Given the description of an element on the screen output the (x, y) to click on. 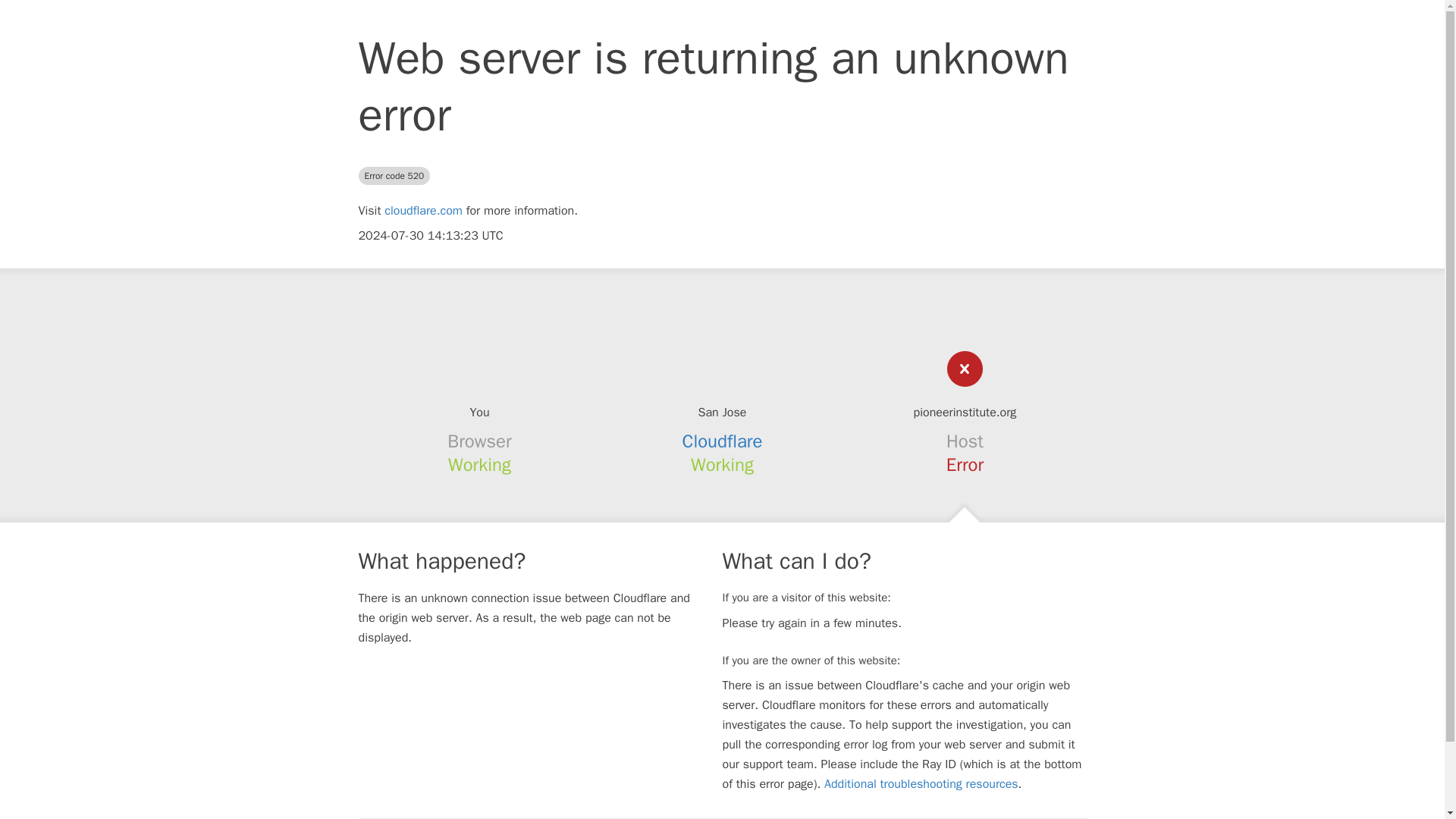
Cloudflare (722, 440)
Additional troubleshooting resources (920, 783)
cloudflare.com (423, 210)
